Given the description of an element on the screen output the (x, y) to click on. 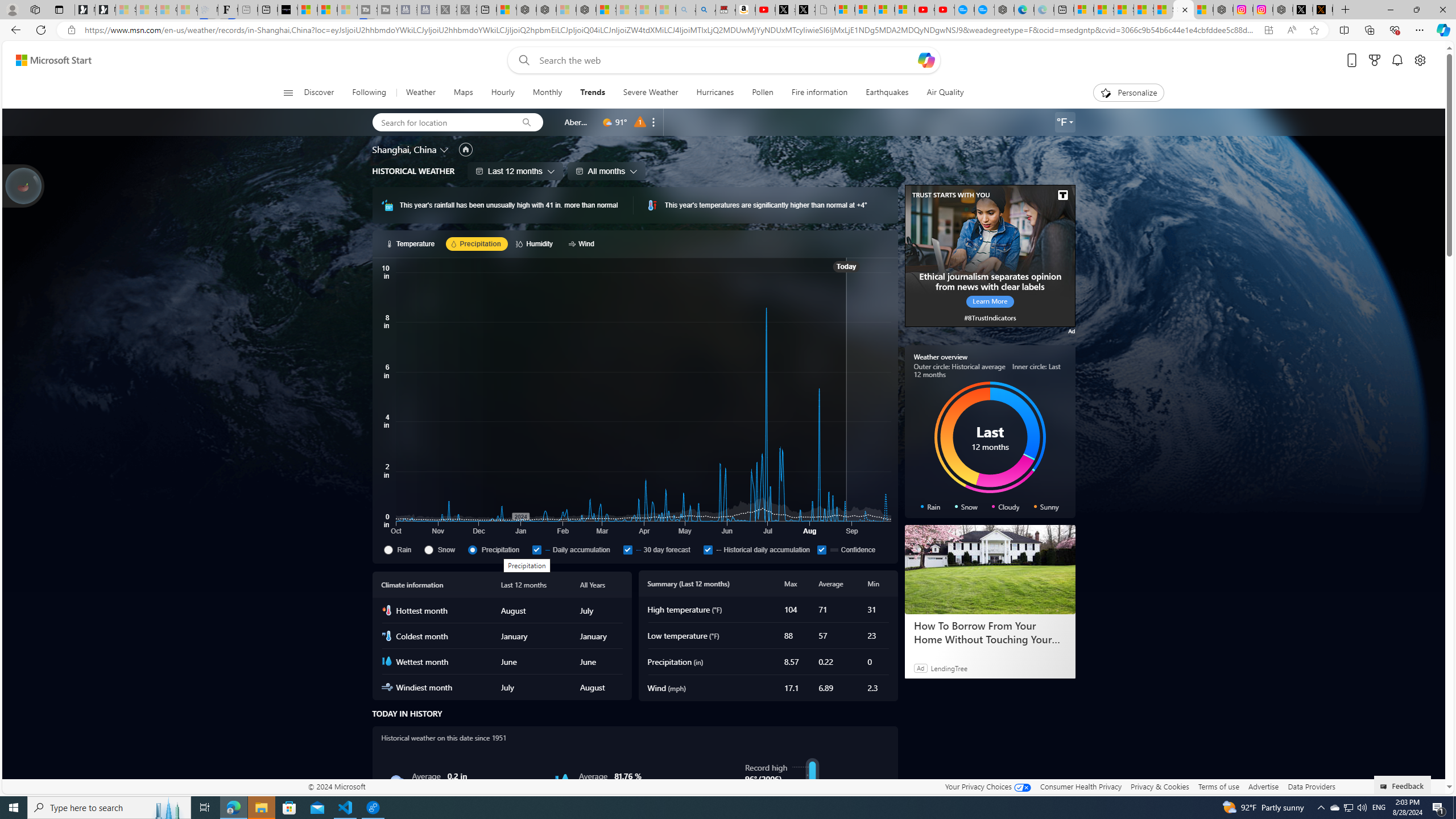
Data Providers (1311, 786)
Join us in planting real trees to help our planet! (23, 185)
How To Borrow From Your Home Without Touching Your Mortgage (989, 569)
Shanghai, China hourly forecast | Microsoft Weather (1123, 9)
Skip to footer (46, 59)
Hourly (502, 92)
